Given the description of an element on the screen output the (x, y) to click on. 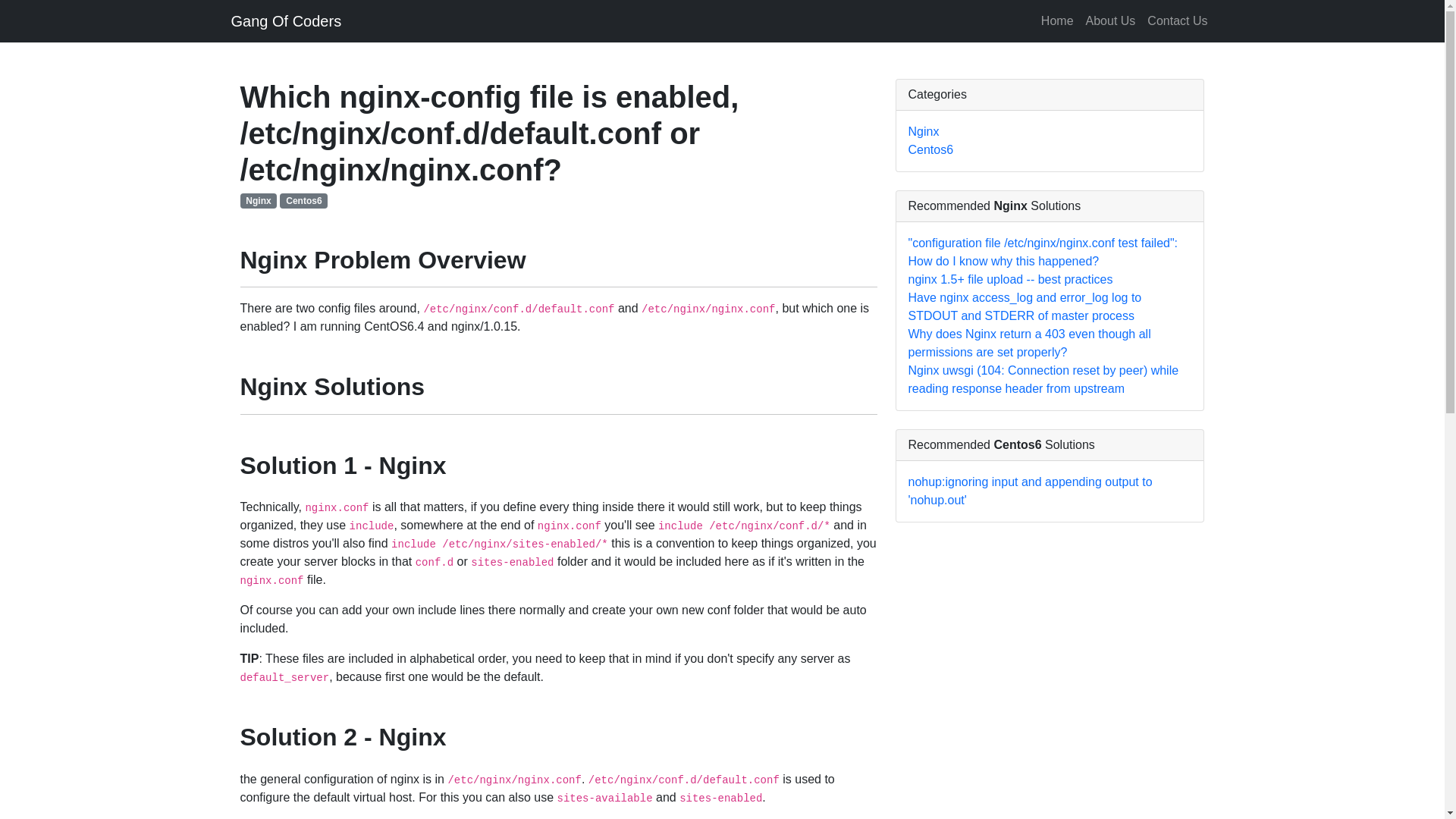
Nginx (923, 131)
Centos6 (303, 200)
Gang Of Coders (285, 20)
About Us (1110, 20)
Nginx (258, 200)
Home (1057, 20)
Contact Us (1176, 20)
nohup:ignoring input and appending output to 'nohup.out' (1030, 490)
Centos6 (930, 149)
